Given the description of an element on the screen output the (x, y) to click on. 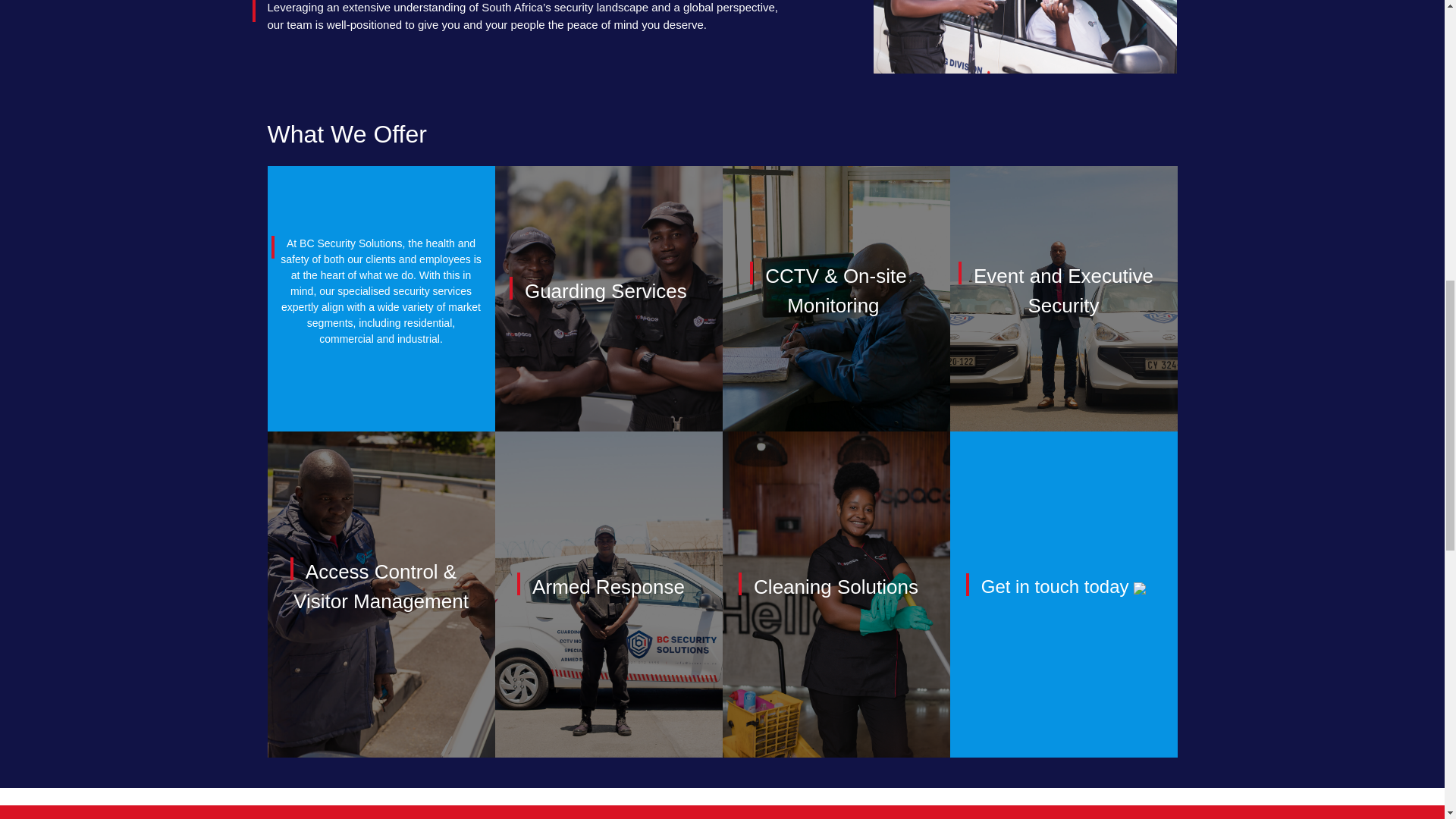
Get in touch today (1063, 586)
Cleaning Solutions (836, 585)
Guarding Services (605, 290)
Armed Response (608, 585)
Event and Executive Security (1063, 290)
